Given the description of an element on the screen output the (x, y) to click on. 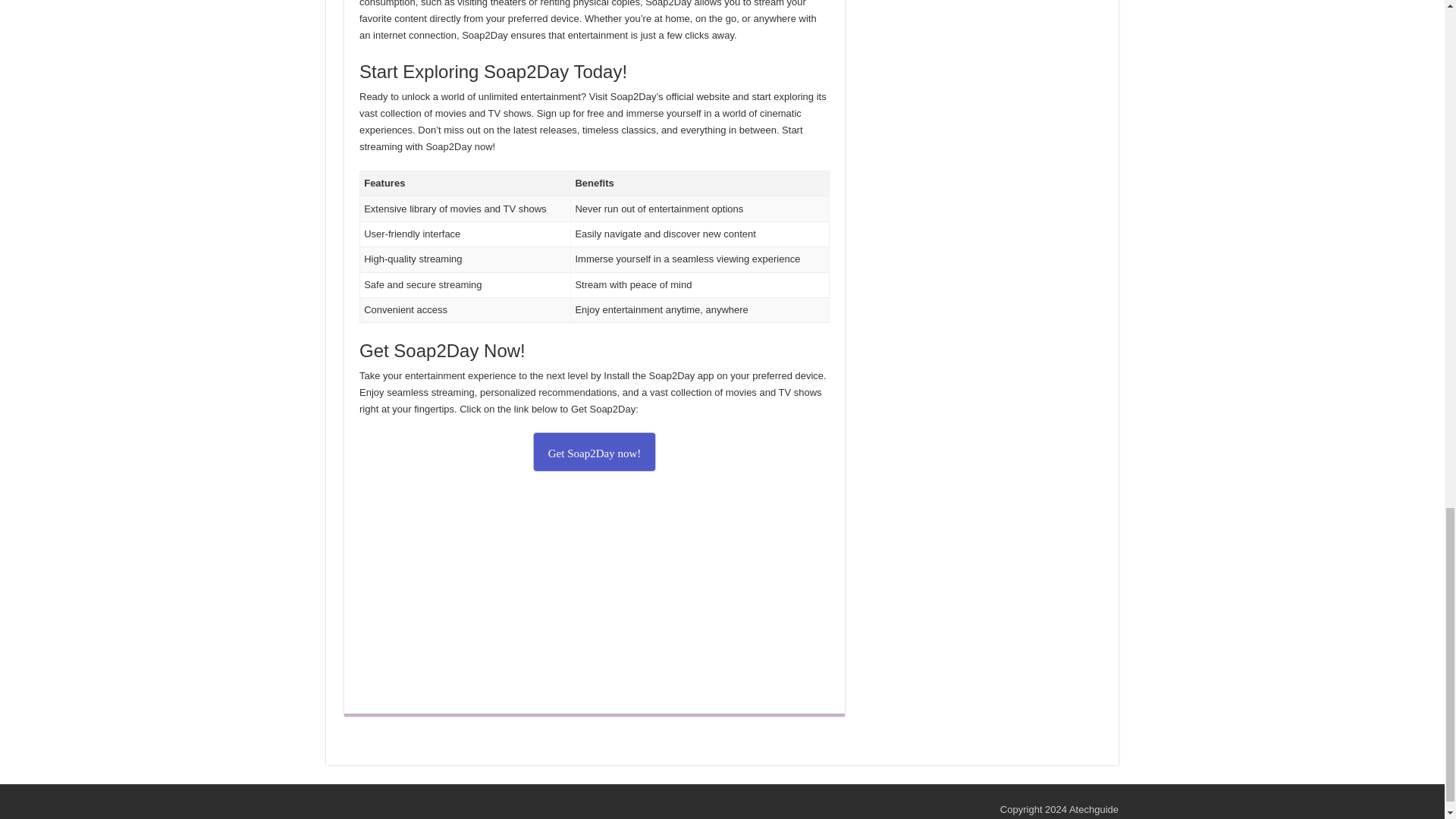
Atechguide (1093, 808)
Get Soap2Day now! (594, 451)
